Given the description of an element on the screen output the (x, y) to click on. 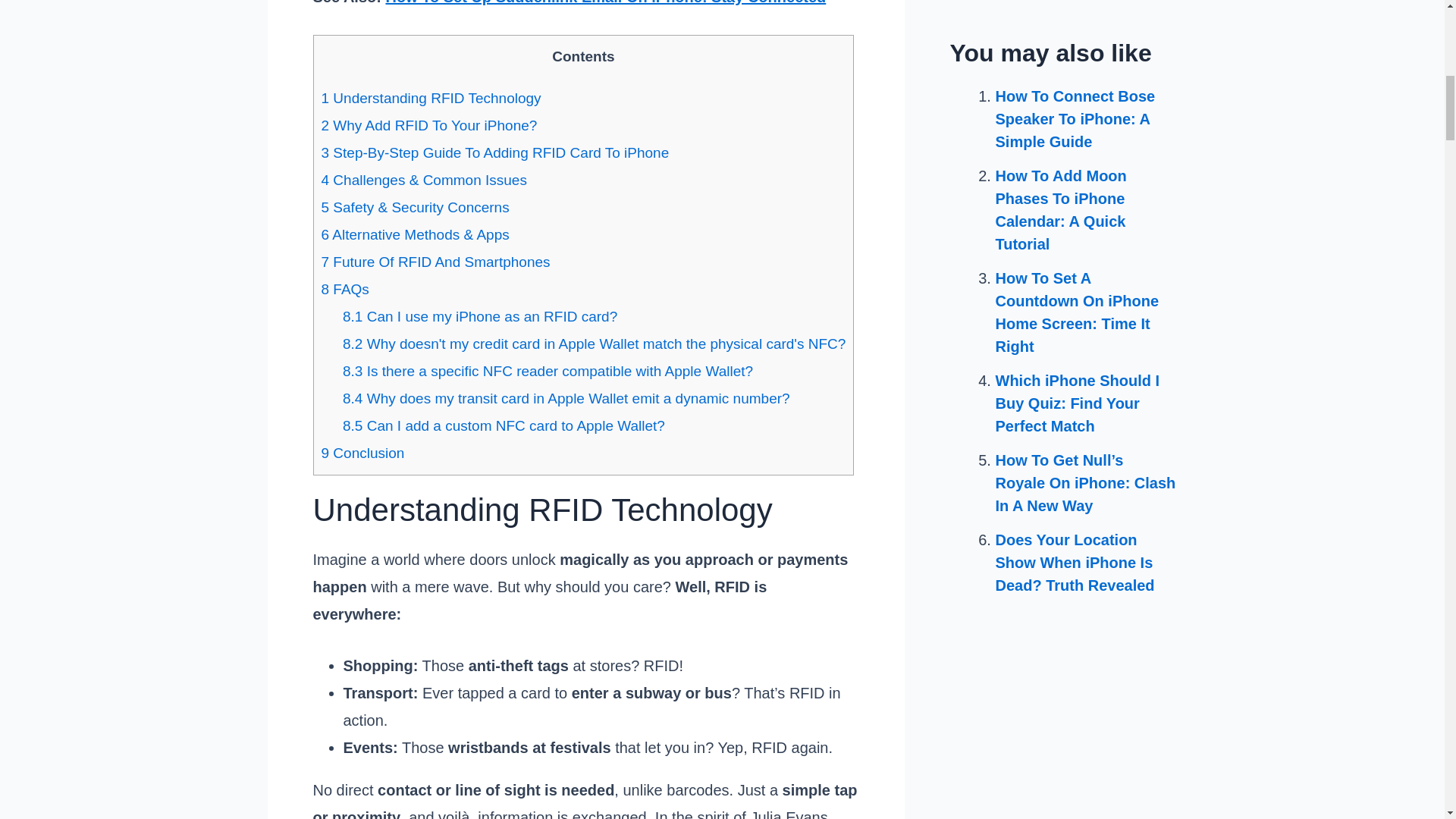
2 Why Add RFID To Your iPhone? (429, 125)
1 Understanding RFID Technology (431, 98)
3 Step-By-Step Guide To Adding RFID Card To iPhone (495, 152)
